Given the description of an element on the screen output the (x, y) to click on. 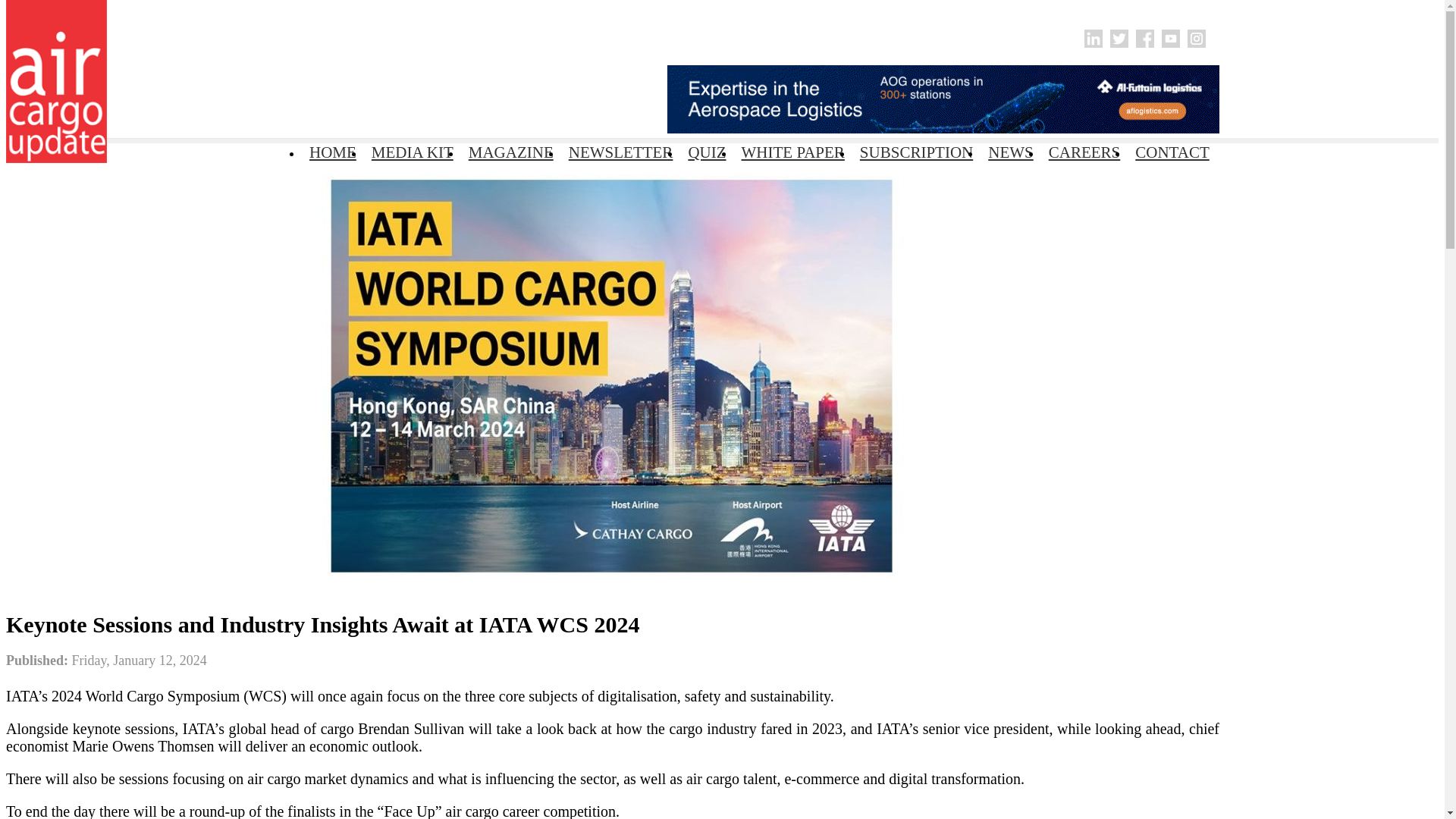
CONTACT (1170, 151)
MEDIA KIT (412, 151)
WHITE PAPER (792, 151)
MAGAZINE (510, 151)
SUBSCRIPTION (915, 151)
HOME (332, 151)
NEWS (1010, 151)
NEWSLETTER (620, 151)
QUIZ (706, 151)
CAREERS (1084, 151)
